Given the description of an element on the screen output the (x, y) to click on. 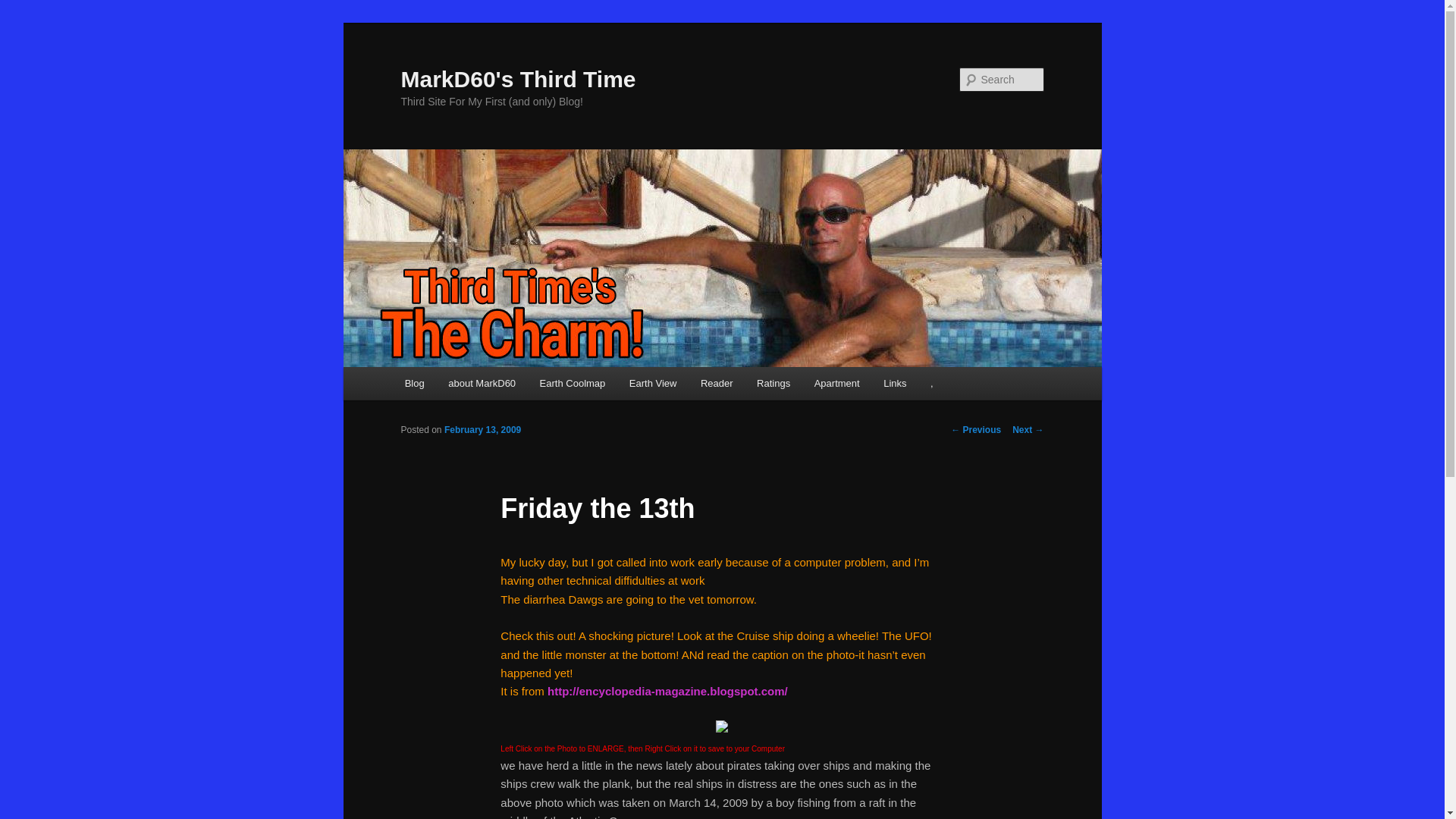
Reader (716, 382)
Earth View (652, 382)
about MarkD60 (481, 382)
Blog (414, 382)
, (931, 382)
Ratings (773, 382)
2:44 pm (482, 429)
Apartment (836, 382)
Links (894, 382)
Earth Coolmap (572, 382)
Search (24, 8)
MarkD60's Third Time (517, 78)
February 13, 2009 (482, 429)
